Given the description of an element on the screen output the (x, y) to click on. 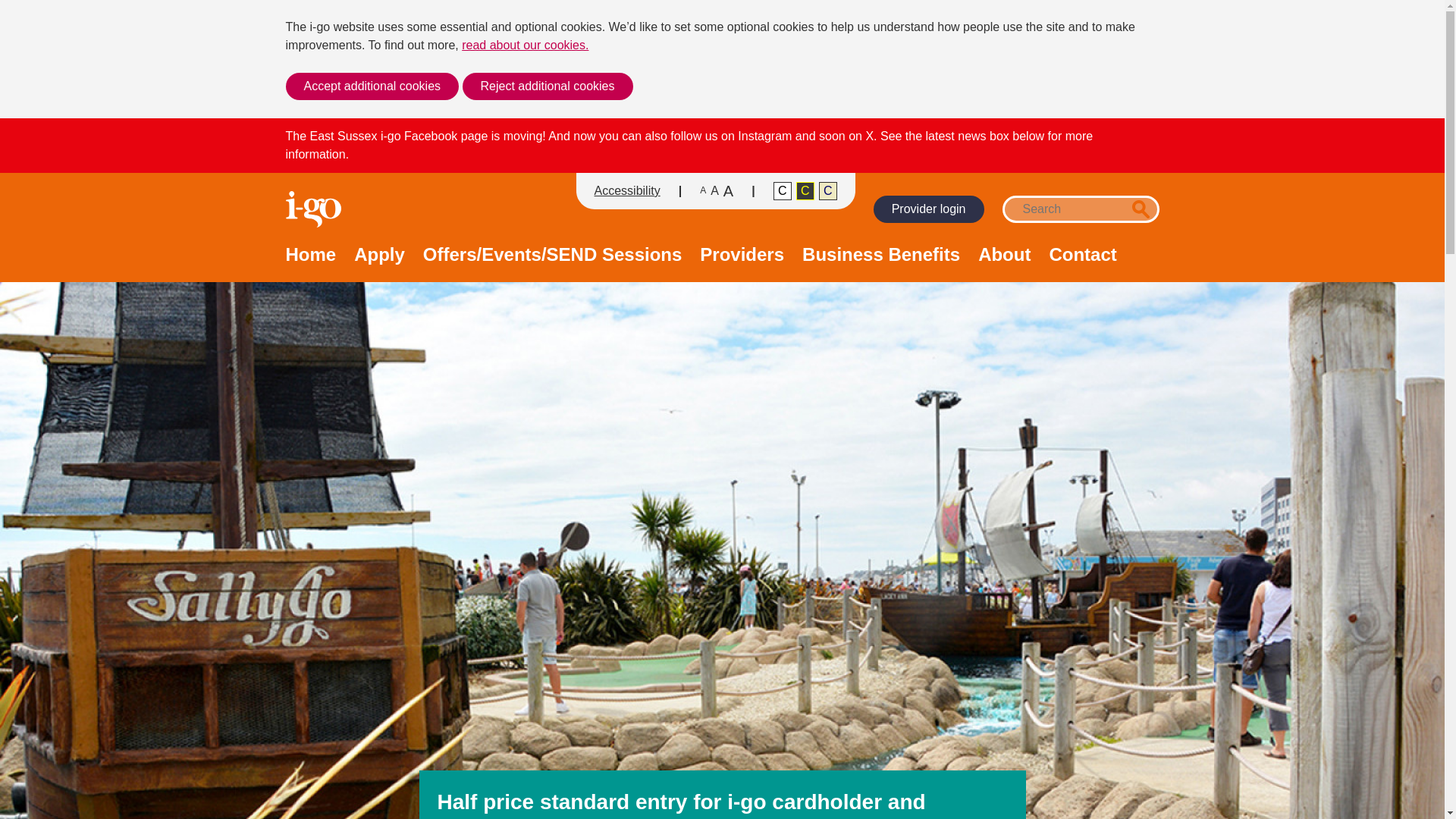
C (782, 190)
Provider login (928, 208)
Apply (378, 263)
C (827, 190)
Accept additional cookies (371, 85)
Accessibility (627, 190)
Homepage (314, 208)
Business Benefits (880, 263)
Home (310, 263)
